Given the description of an element on the screen output the (x, y) to click on. 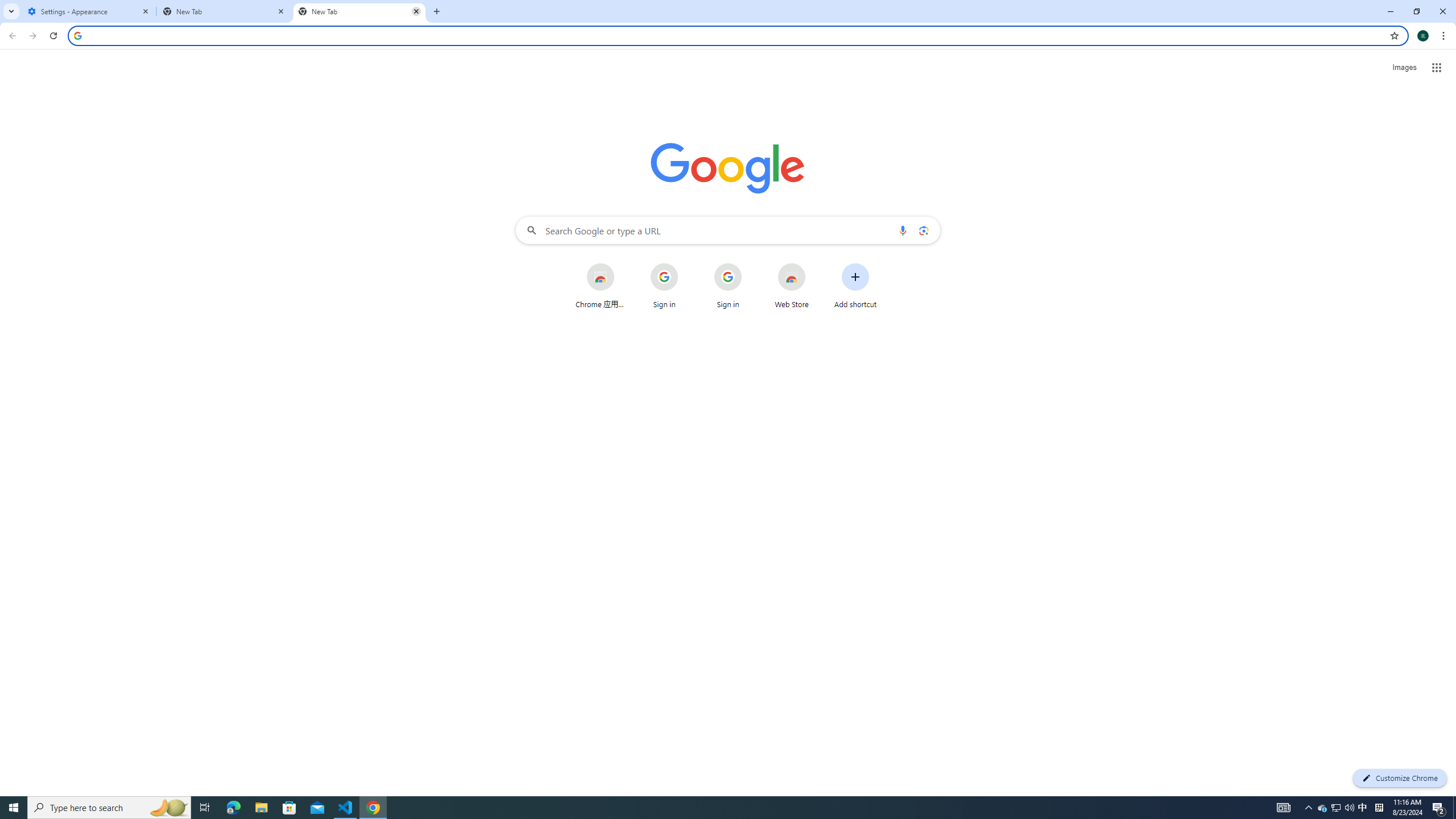
More actions for Sign in shortcut (750, 264)
